Given the description of an element on the screen output the (x, y) to click on. 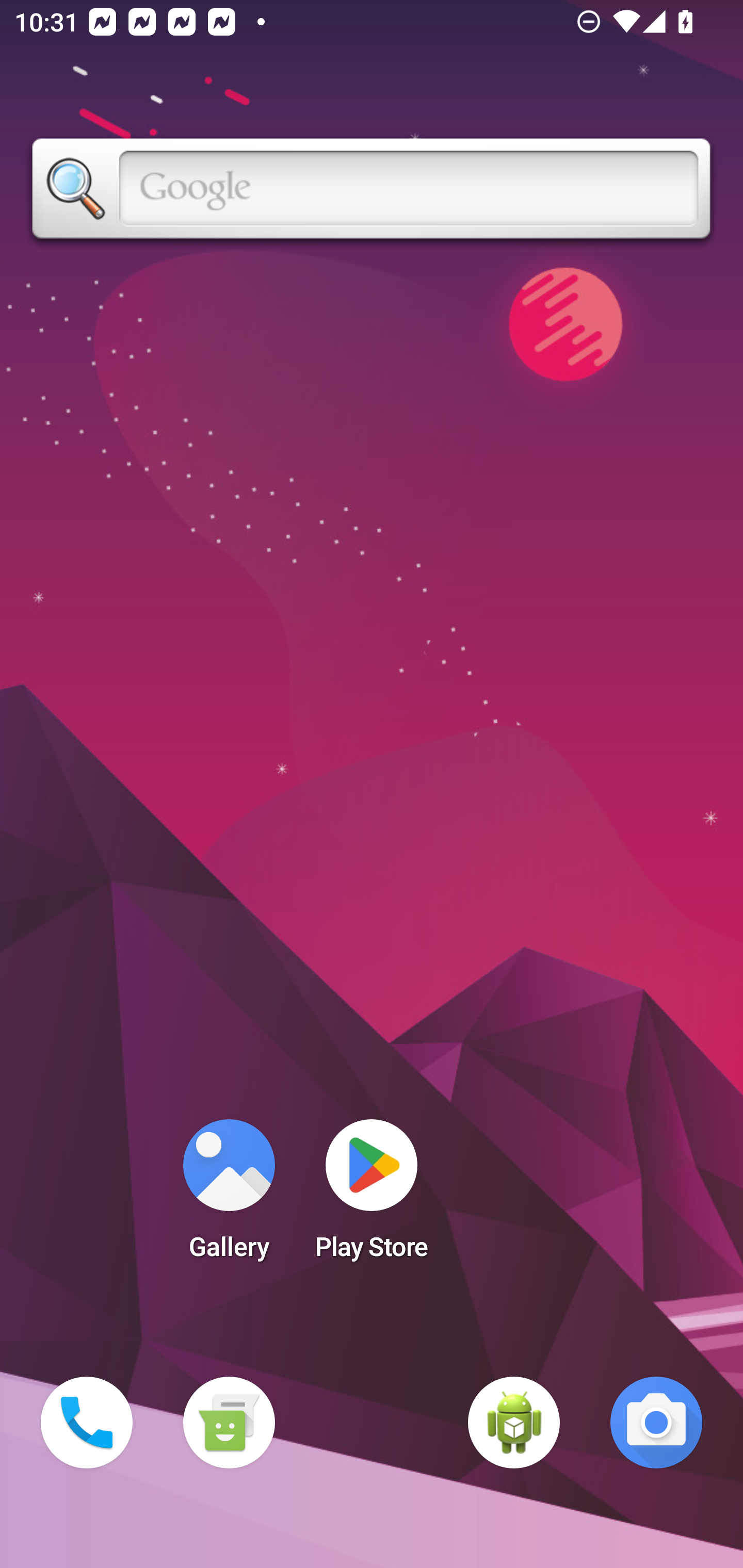
Gallery (228, 1195)
Play Store (371, 1195)
Phone (86, 1422)
Messaging (228, 1422)
WebView Browser Tester (513, 1422)
Camera (656, 1422)
